Given the description of an element on the screen output the (x, y) to click on. 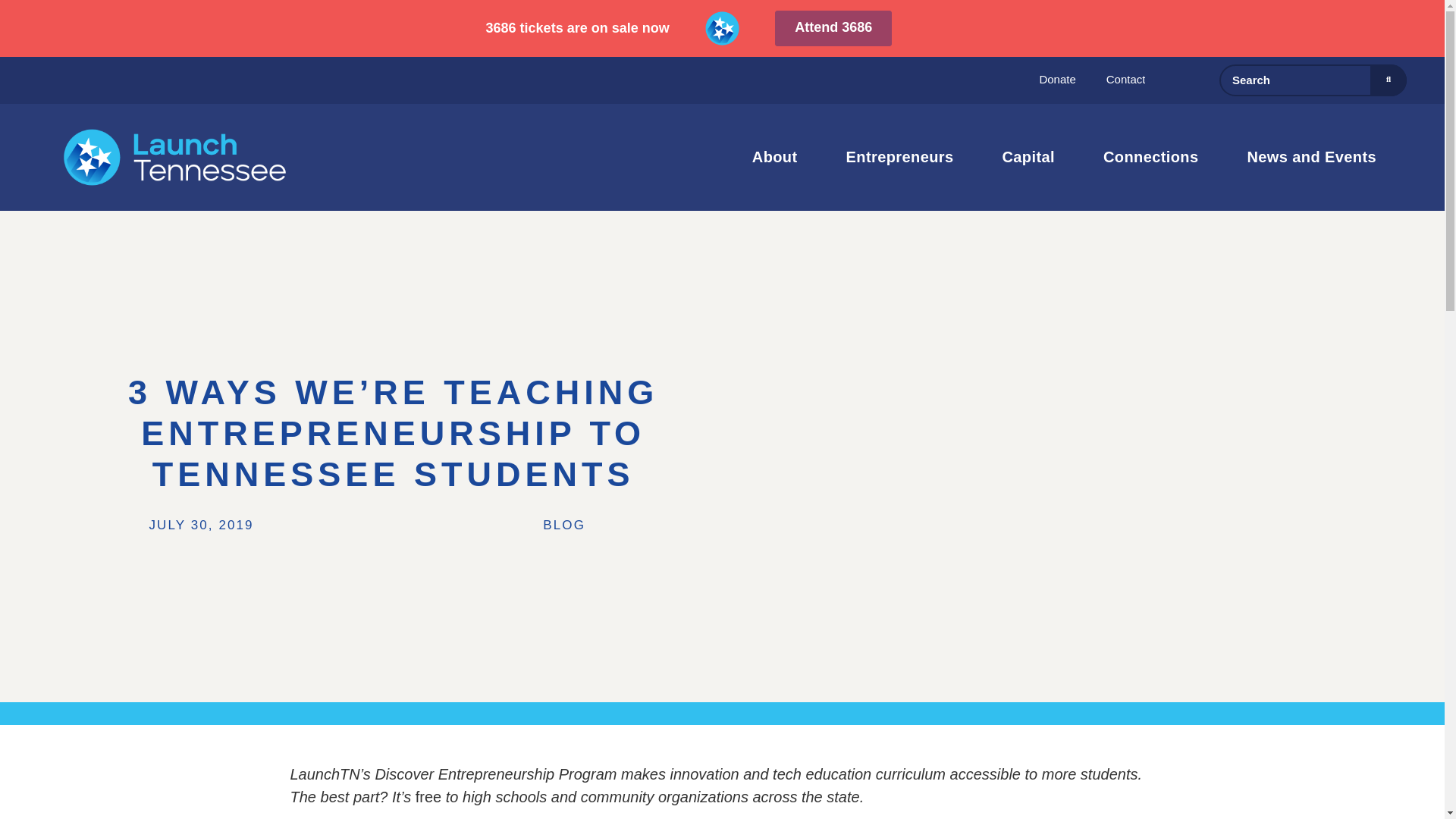
Connections (1154, 156)
Donate (1057, 79)
Attend 3686 (832, 27)
About (778, 156)
Contact (1125, 79)
Capital (1032, 156)
Entrepreneurs (903, 156)
